Given the description of an element on the screen output the (x, y) to click on. 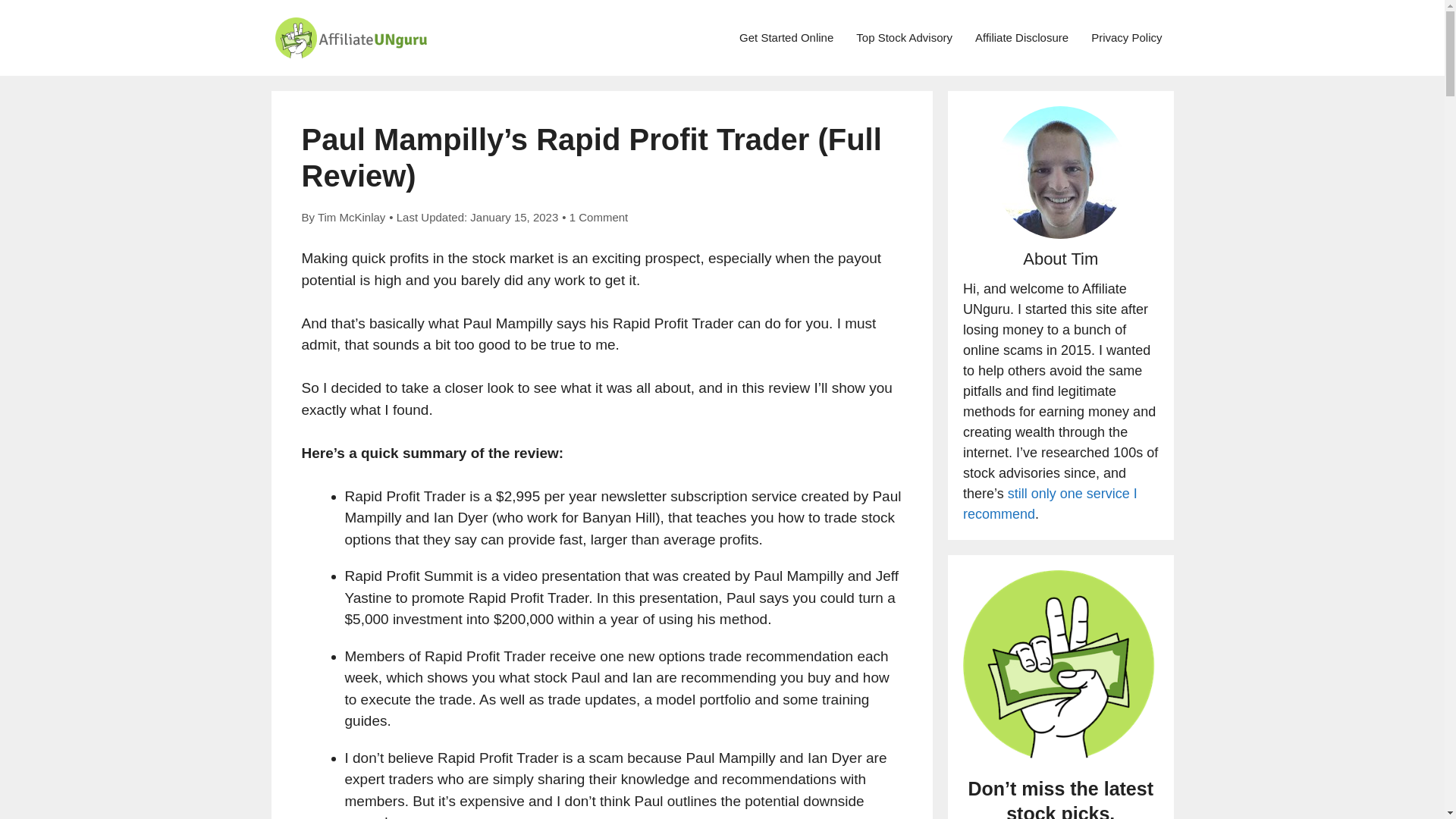
Privacy Policy (1126, 37)
Get Started Online (786, 37)
Affiliate Disclosure (1021, 37)
1 Comment (598, 216)
Top Stock Advisory (903, 37)
Tim McKinlay (351, 216)
Start Here (786, 37)
